Given the description of an element on the screen output the (x, y) to click on. 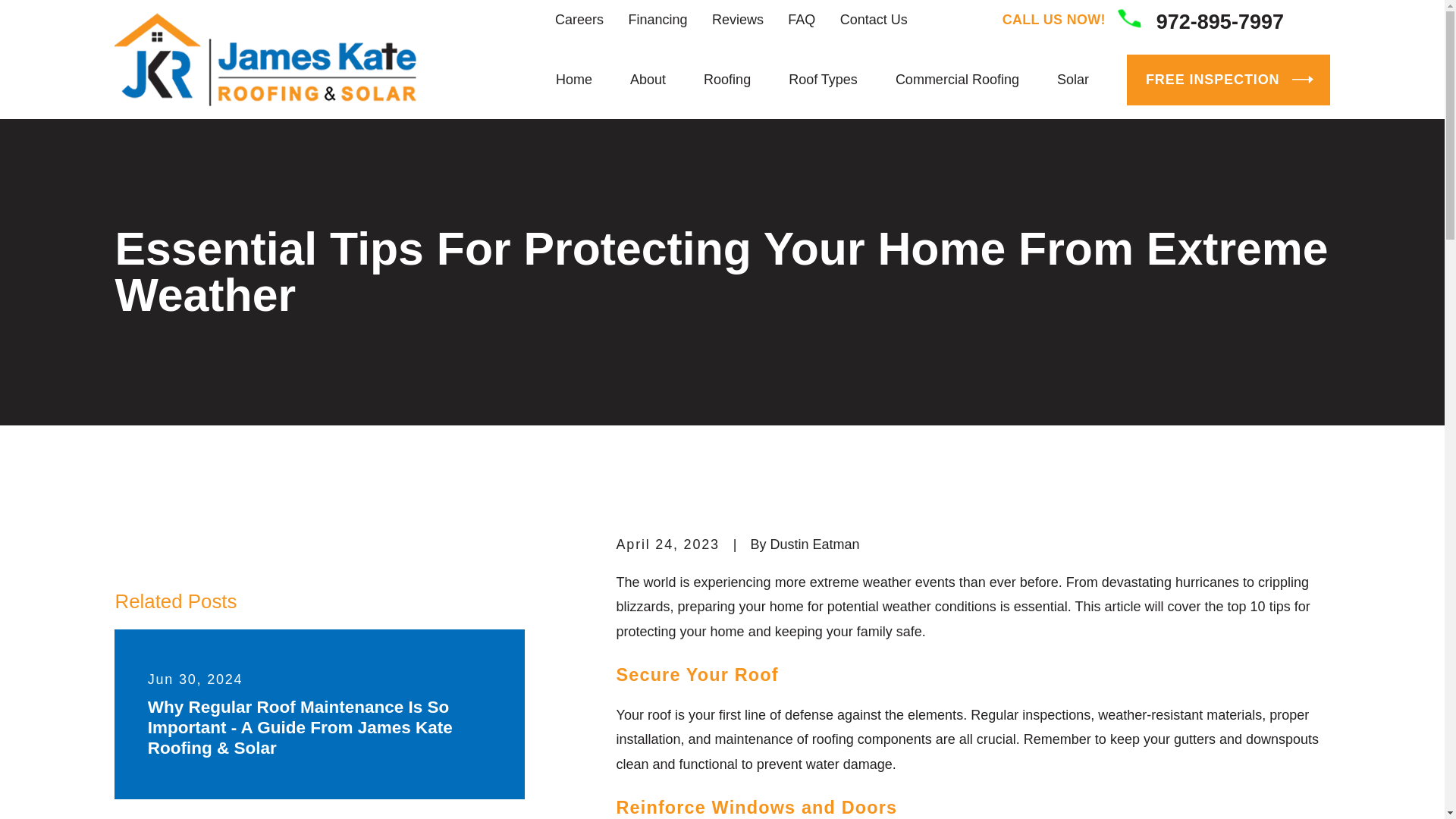
Reviews (736, 19)
FAQ (801, 19)
Roof Types (823, 80)
972-895-7997 (1201, 20)
Home (265, 59)
Careers (579, 19)
Financing (657, 19)
Commercial Roofing (957, 80)
Roofing (727, 80)
Contact Us (873, 19)
